Given the description of an element on the screen output the (x, y) to click on. 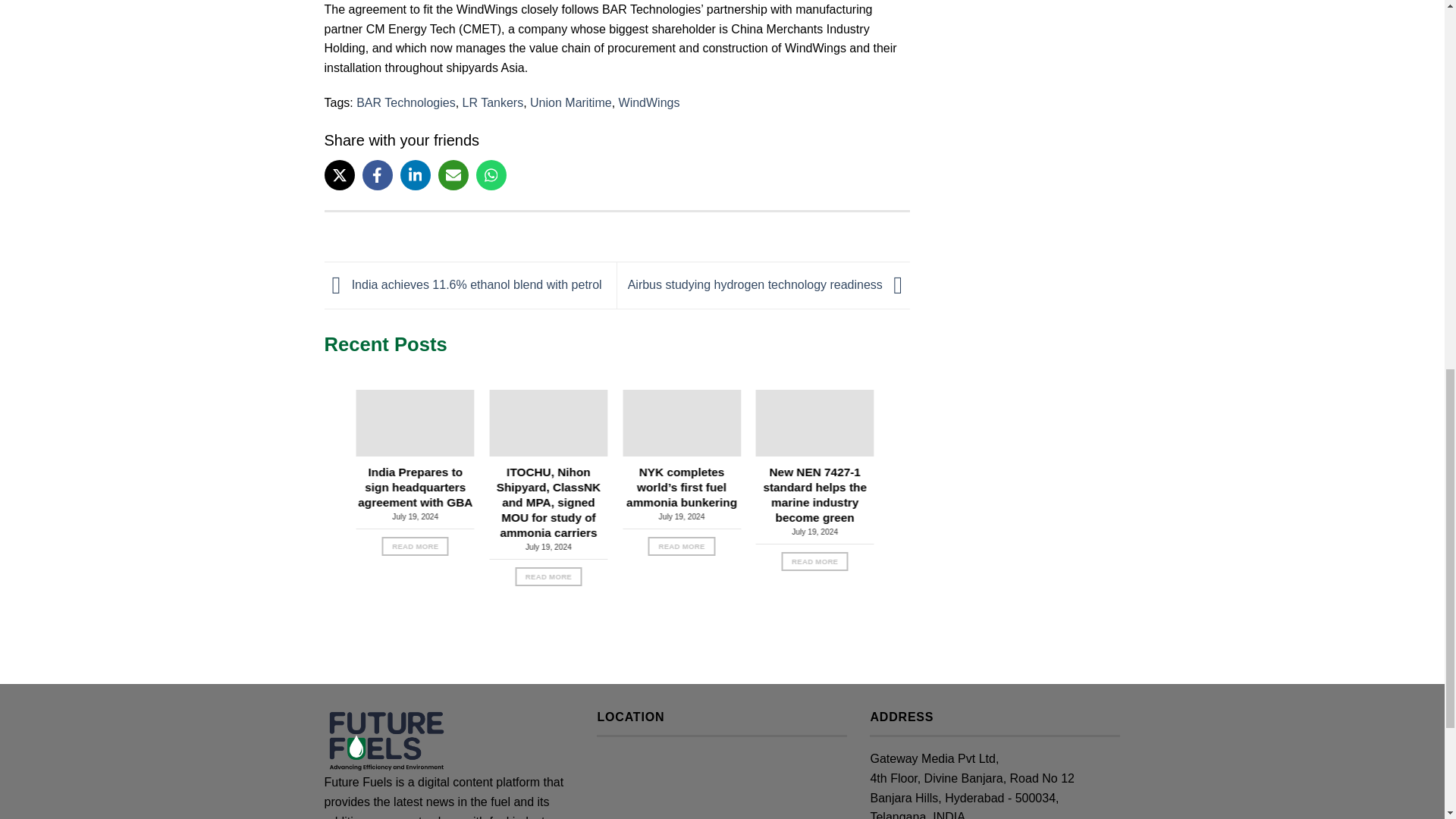
BAR Technologies (405, 102)
